Given the description of an element on the screen output the (x, y) to click on. 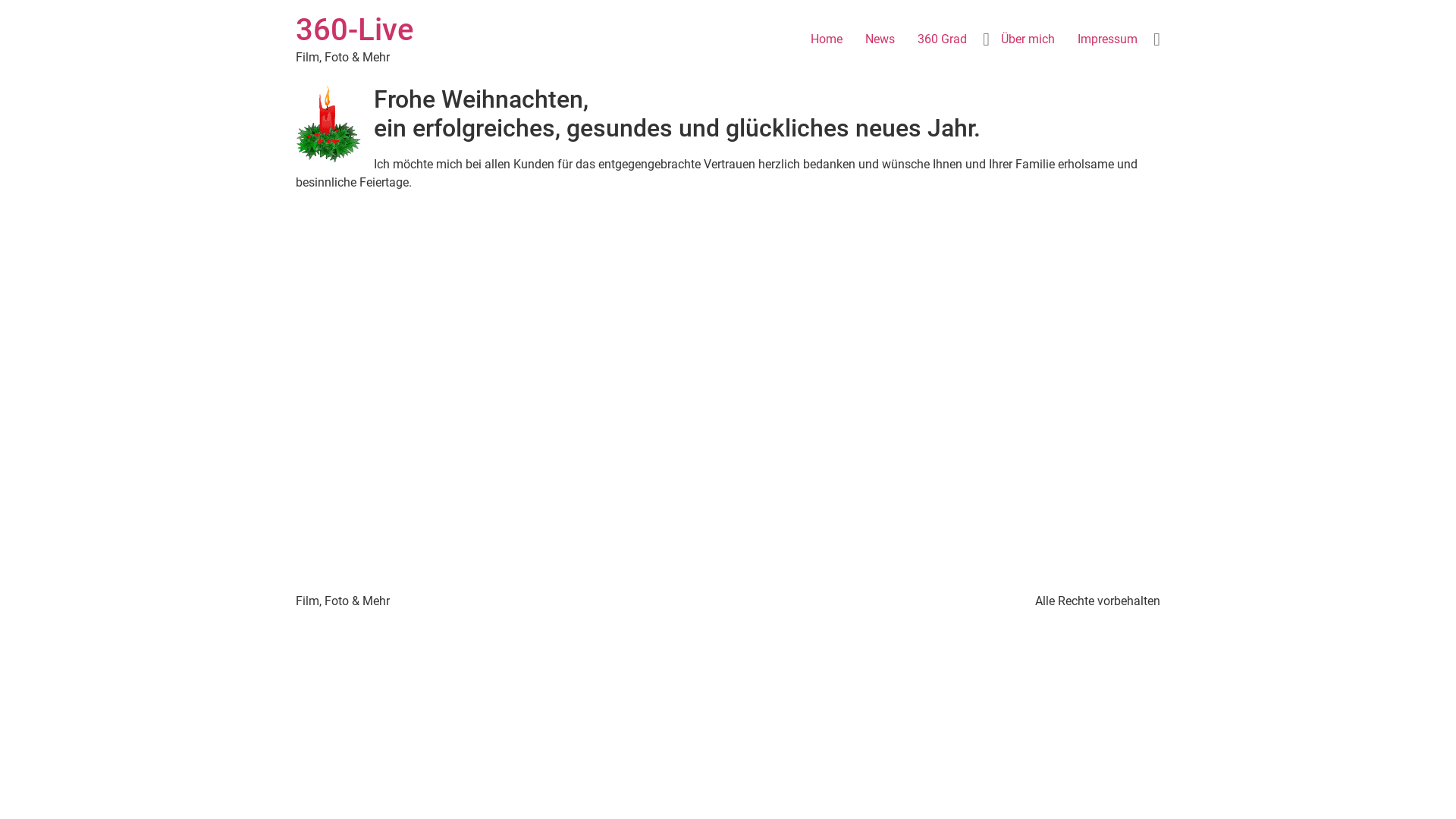
Impressum Element type: text (1107, 39)
360-Live Element type: text (354, 29)
Home Element type: text (826, 39)
360 Grad Element type: text (942, 39)
News Element type: text (879, 39)
